Given the description of an element on the screen output the (x, y) to click on. 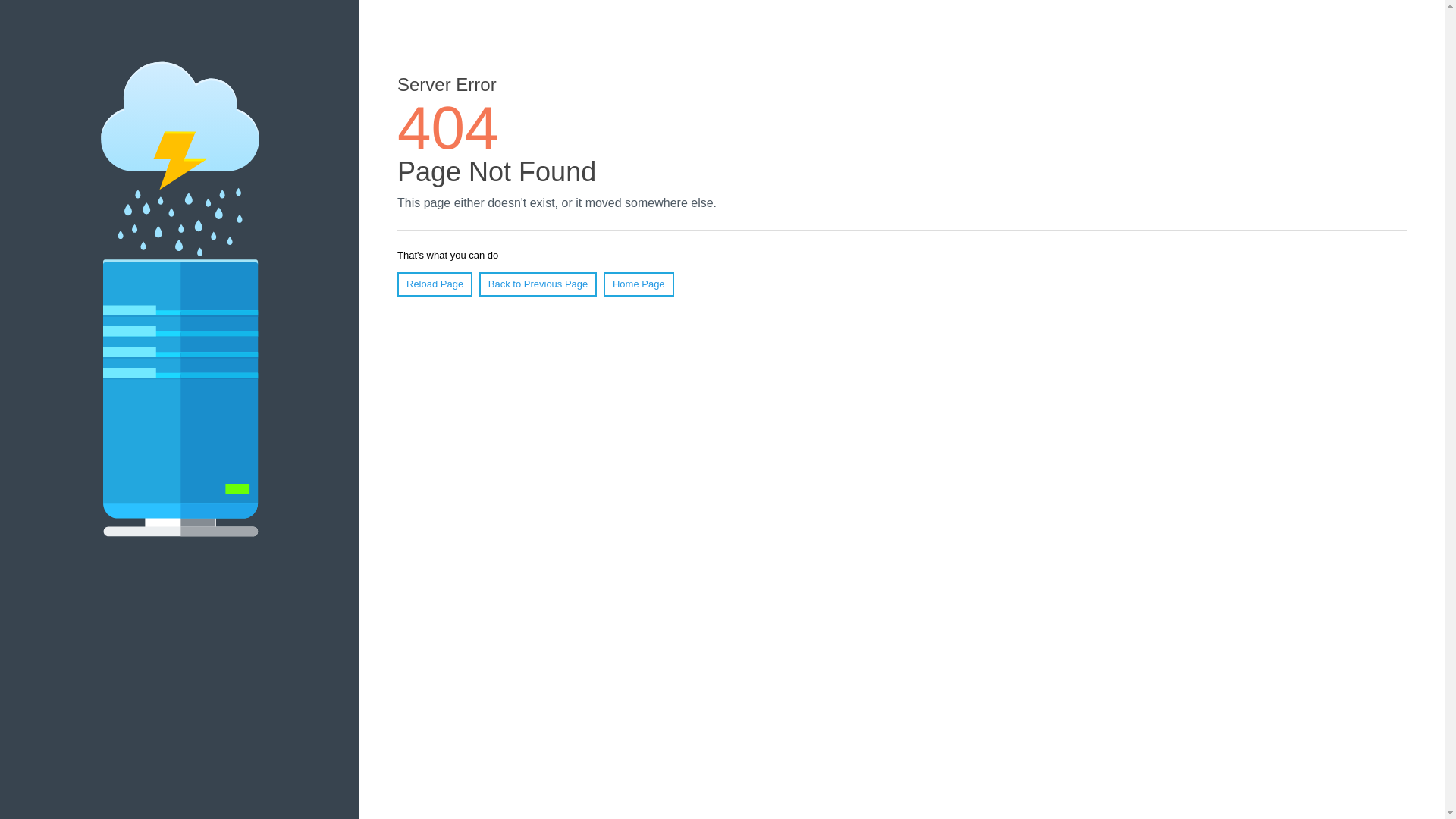
Home Page Element type: text (638, 284)
Reload Page Element type: text (434, 284)
Back to Previous Page Element type: text (538, 284)
